Given the description of an element on the screen output the (x, y) to click on. 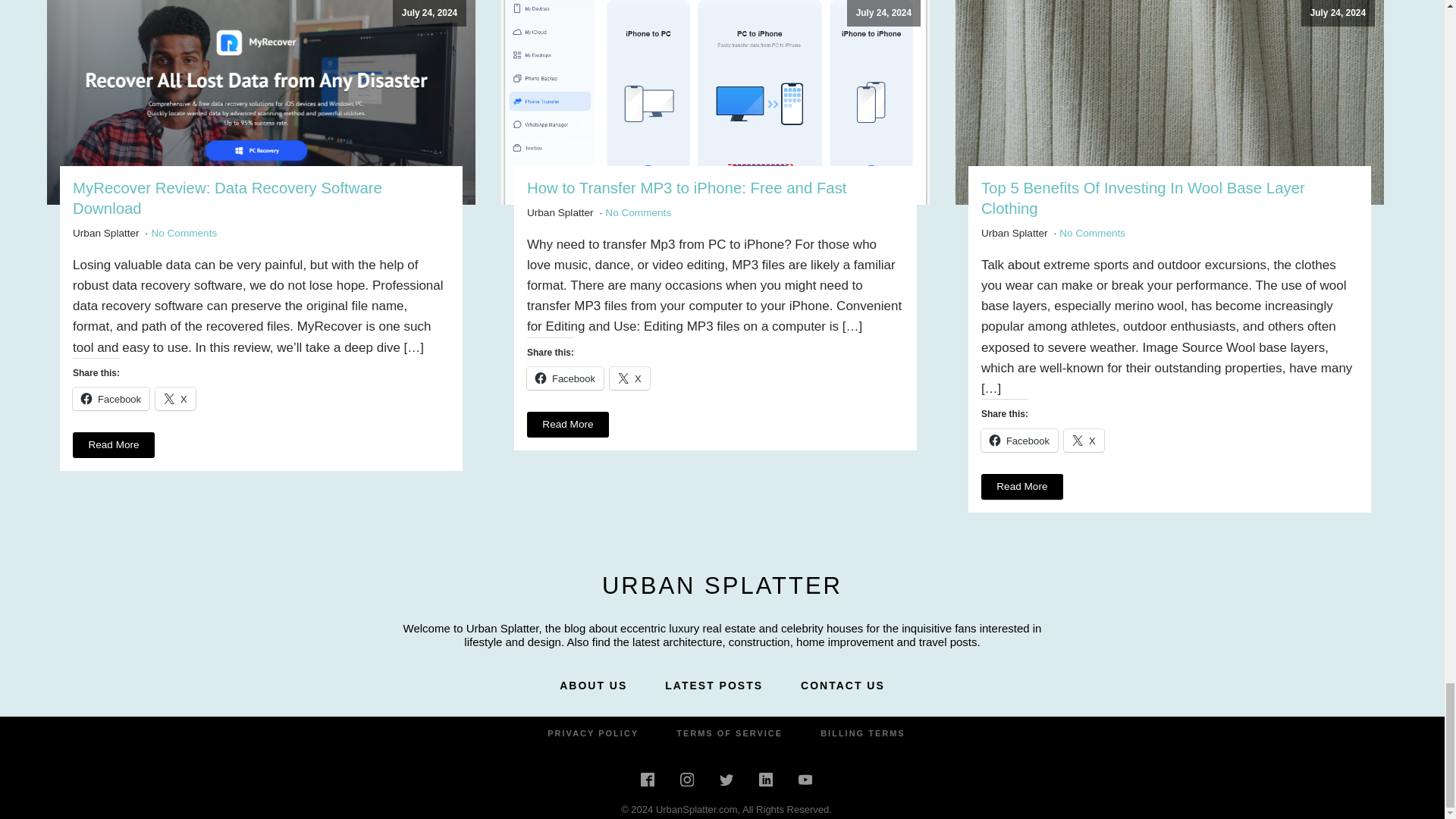
Click to share on X (175, 398)
Click to share on X (629, 377)
Click to share on Facebook (110, 398)
Click to share on X (1083, 440)
Click to share on Facebook (1019, 440)
Click to share on Facebook (565, 377)
